Given the description of an element on the screen output the (x, y) to click on. 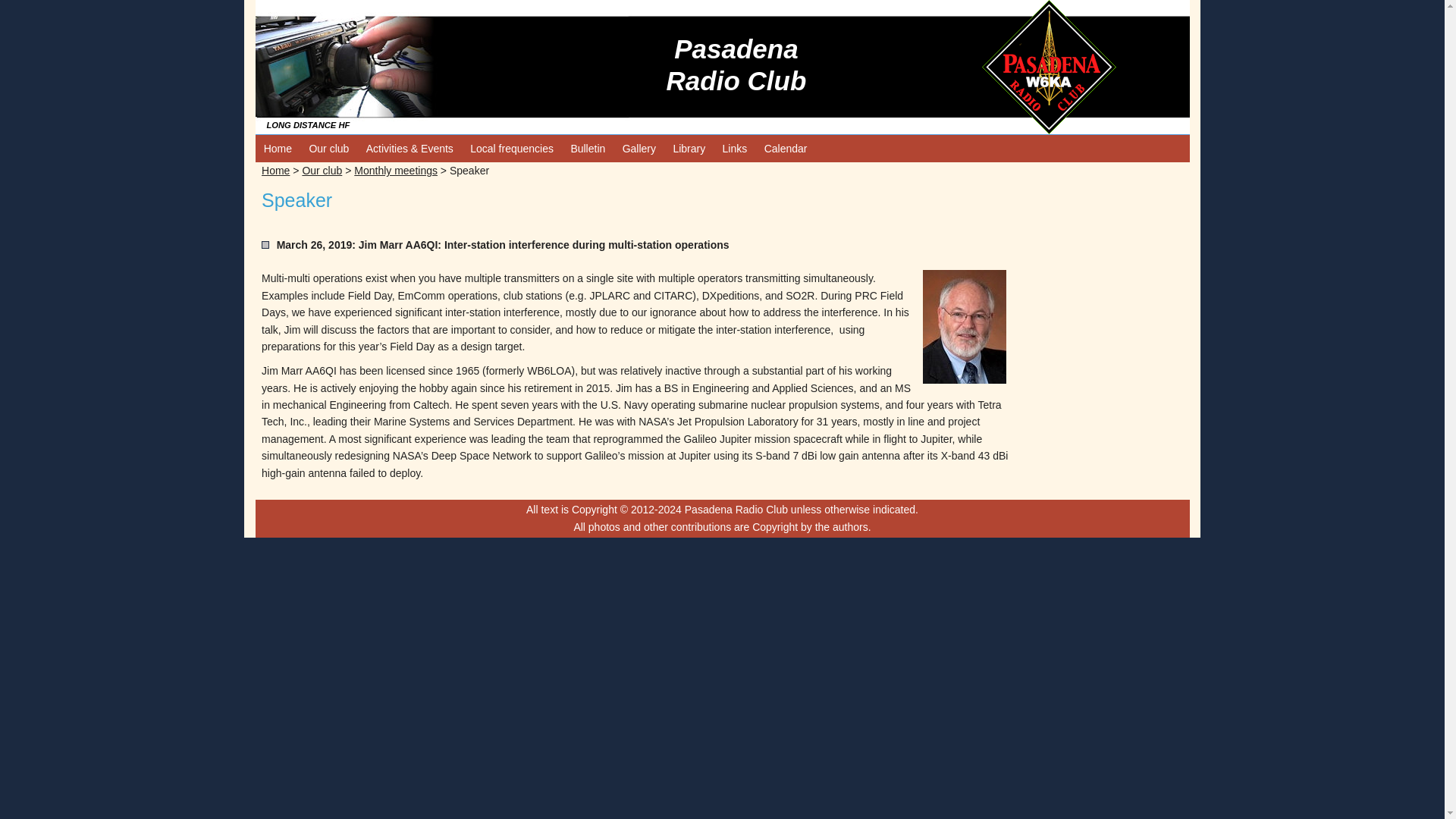
Library (688, 148)
Calendar (785, 148)
Gallery (637, 148)
Links (734, 148)
Monthly meetings (395, 170)
Home (275, 170)
Bulletin (587, 148)
Home (276, 148)
Our club (327, 148)
Our club (321, 170)
Local frequencies (511, 148)
